Given the description of an element on the screen output the (x, y) to click on. 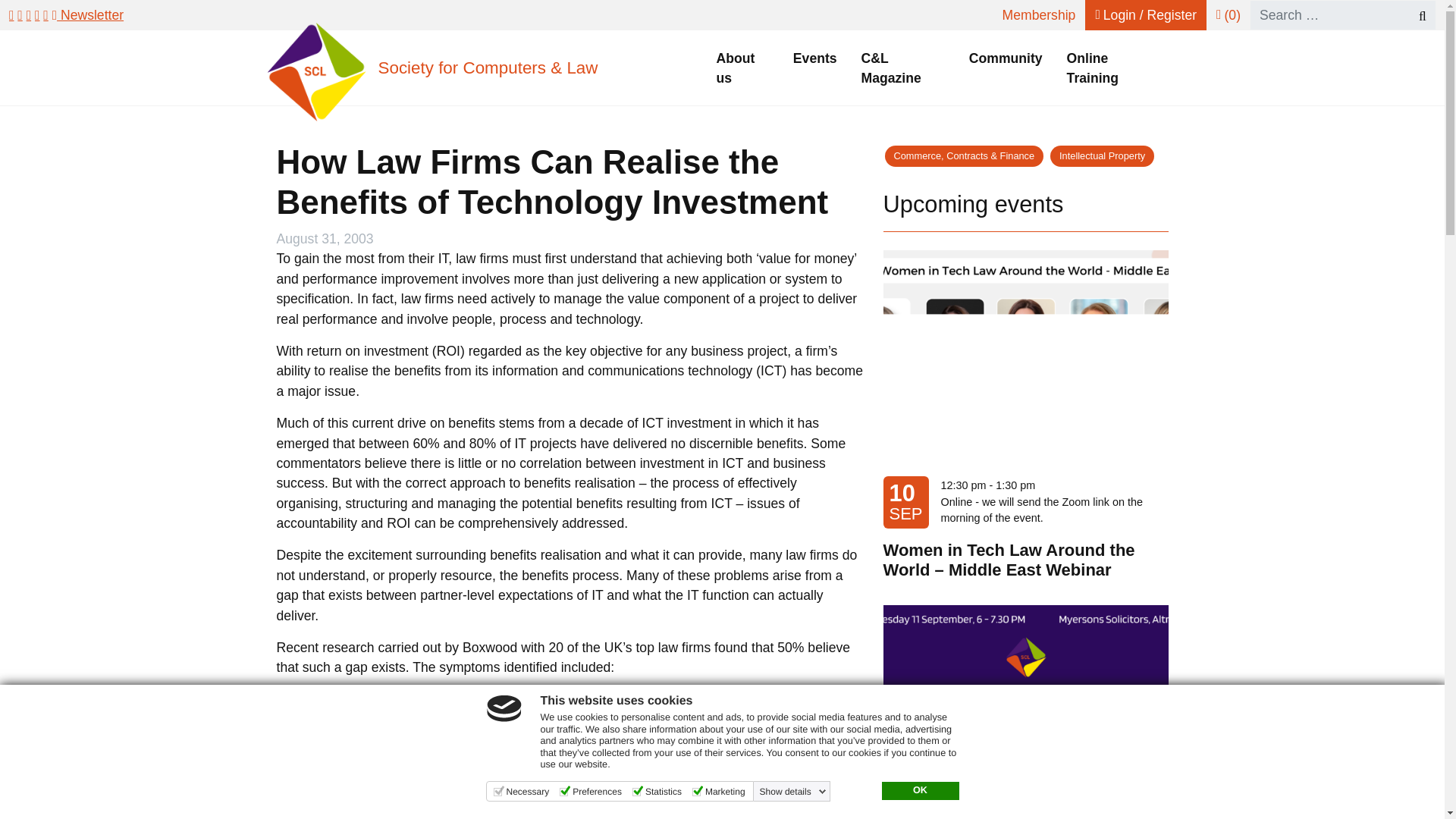
OK (919, 791)
Show details (793, 791)
Search (1415, 14)
Search (1415, 14)
